Given the description of an element on the screen output the (x, y) to click on. 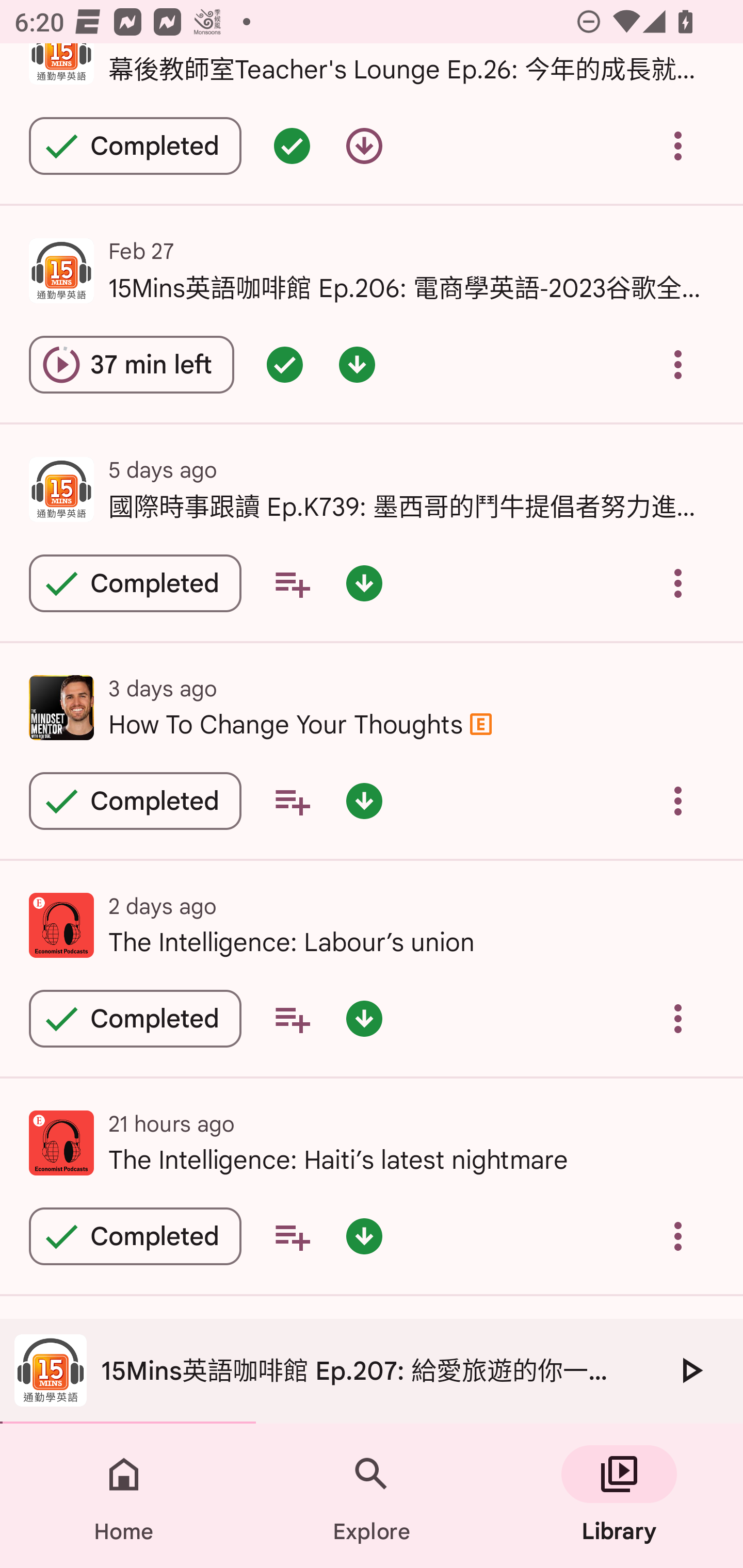
Episode queued - double tap for options (291, 145)
Download episode (364, 145)
Overflow menu (677, 145)
Episode queued - double tap for options (284, 364)
Episode downloaded - double tap for options (356, 364)
Overflow menu (677, 364)
Add to your queue (291, 583)
Episode downloaded - double tap for options (364, 583)
Overflow menu (677, 583)
Play episode How To Change Your Thoughts Completed (134, 800)
Add to your queue (291, 800)
Episode downloaded - double tap for options (364, 800)
Overflow menu (677, 800)
Add to your queue (291, 1018)
Episode downloaded - double tap for options (364, 1018)
Overflow menu (677, 1018)
Add to your queue (291, 1236)
Episode downloaded - double tap for options (364, 1236)
Overflow menu (677, 1236)
Play (690, 1370)
Home (123, 1495)
Explore (371, 1495)
